Given the description of an element on the screen output the (x, y) to click on. 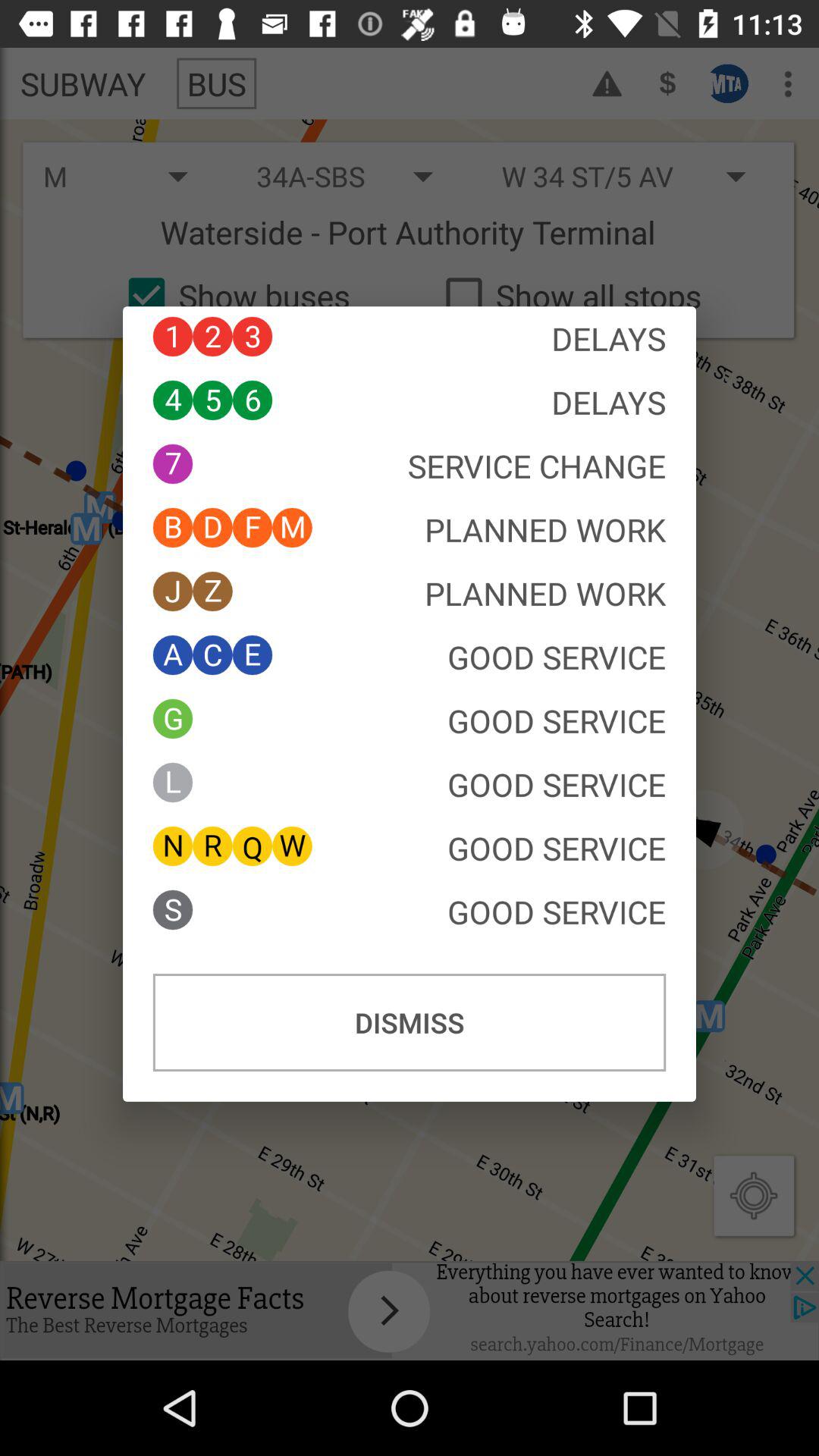
open dismiss button (409, 1022)
